Given the description of an element on the screen output the (x, y) to click on. 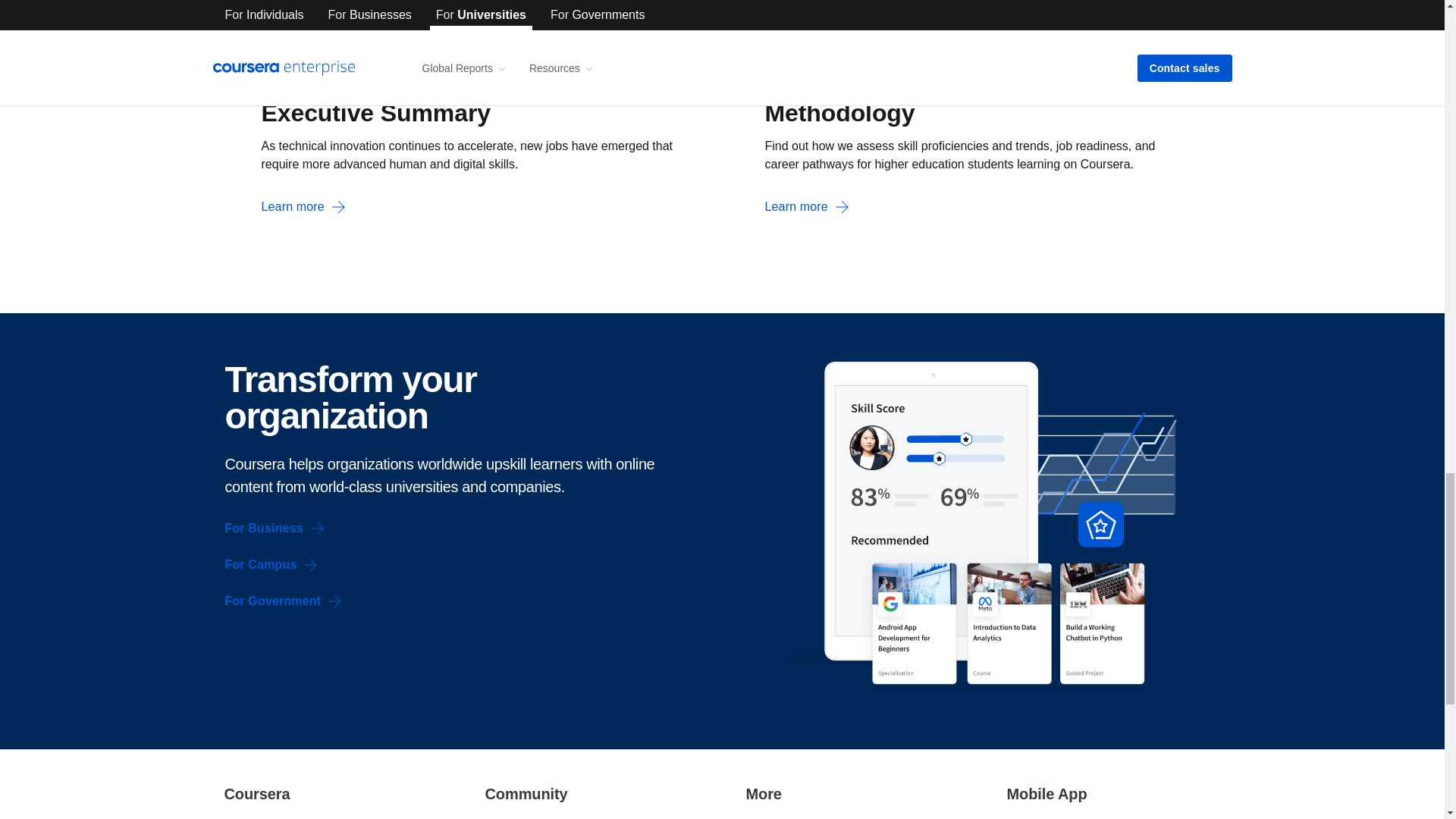
Learn more (806, 207)
For Campus (271, 565)
Learn more (302, 207)
For Business (274, 528)
For Government (282, 601)
